Given the description of an element on the screen output the (x, y) to click on. 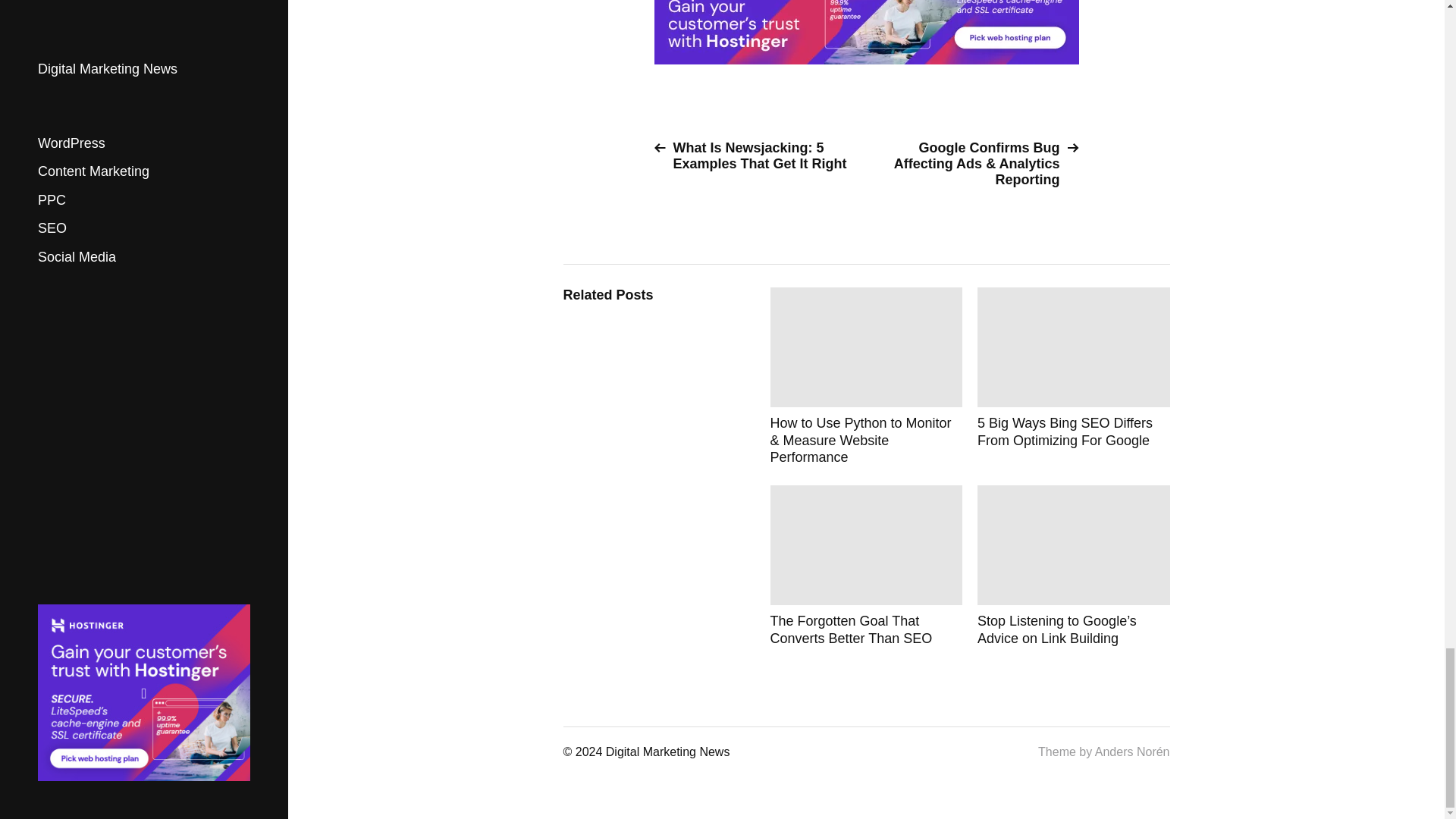
The Forgotten Goal That Converts Better Than SEO (866, 566)
Digital Marketing News (667, 752)
5 Big Ways Bing SEO Differs From Optimizing For Google (1073, 376)
What Is Newsjacking: 5 Examples That Get It Right (753, 155)
